Given the description of an element on the screen output the (x, y) to click on. 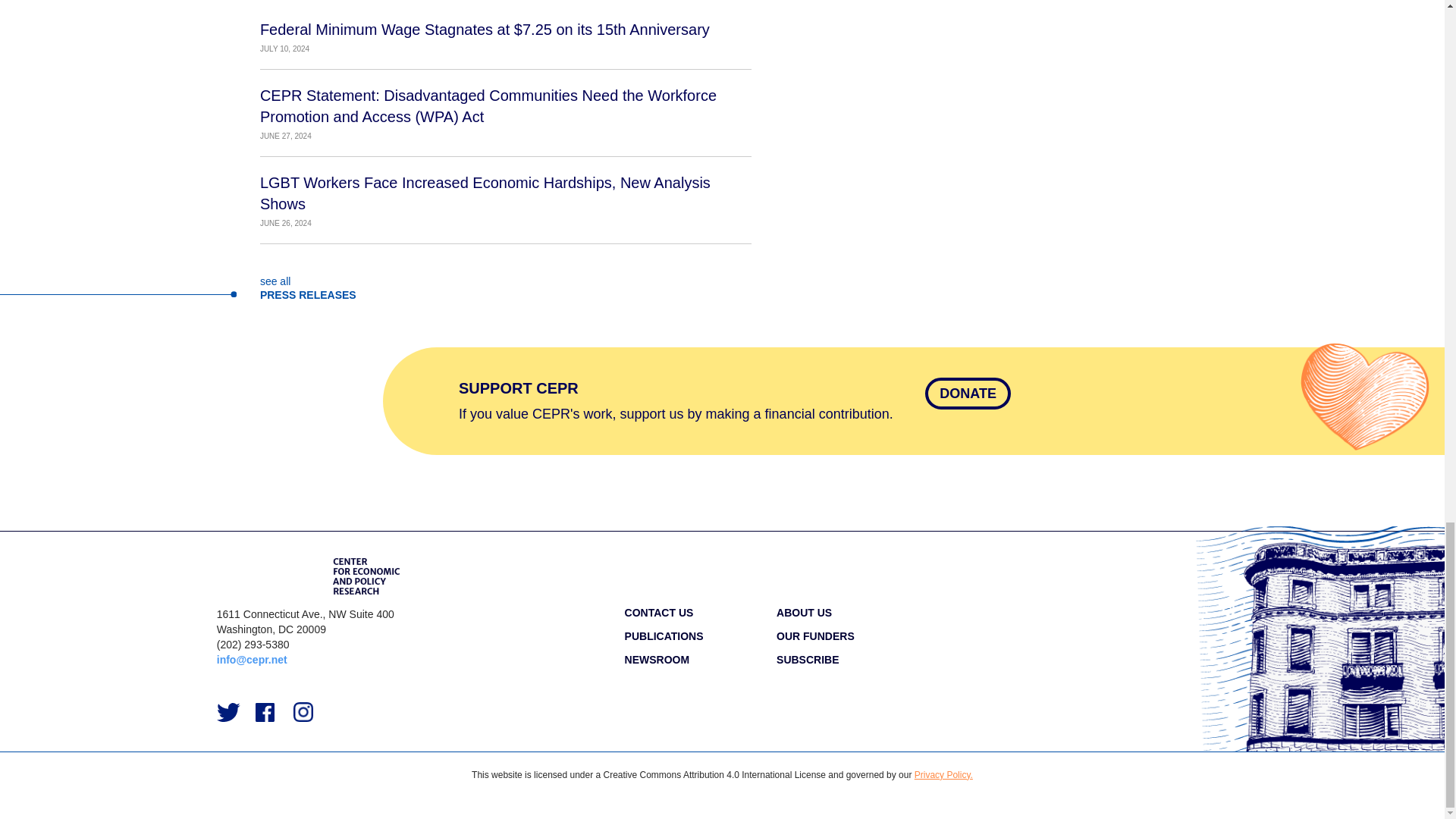
Created with Sketch. (228, 711)
Created with Sketch. (265, 711)
